Given the description of an element on the screen output the (x, y) to click on. 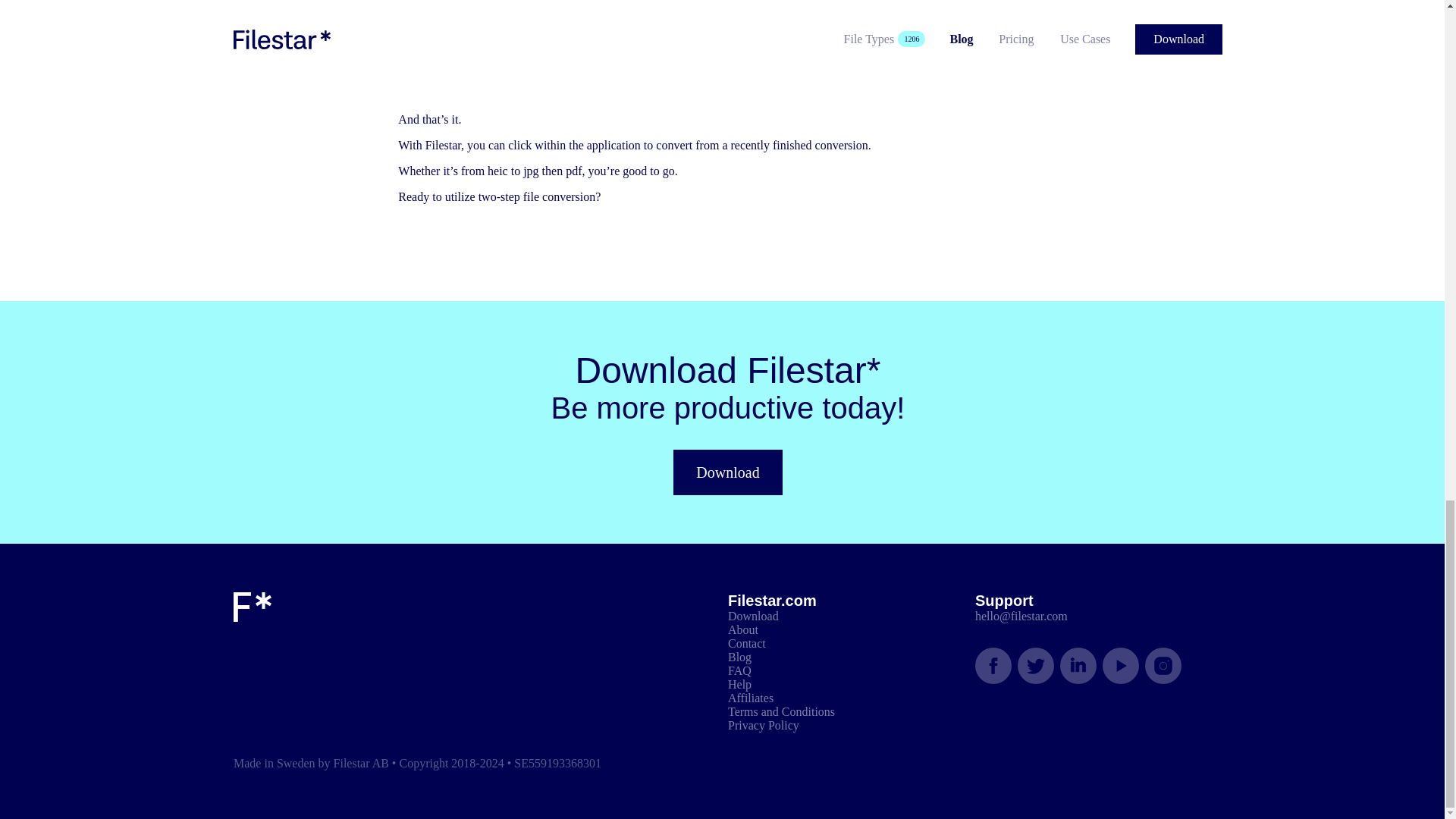
Facebook (993, 665)
Twitter (1035, 665)
YouTube (1120, 665)
Twitter (1035, 665)
Convert PDF to TIFF (579, 8)
YouTube (1120, 665)
About (743, 630)
Facebook (993, 665)
Affiliates (750, 698)
Download (726, 472)
FAQ (739, 671)
Instagram (1162, 665)
Privacy Policy (763, 725)
LinkedIn (1077, 665)
Instagram (1162, 665)
